Given the description of an element on the screen output the (x, y) to click on. 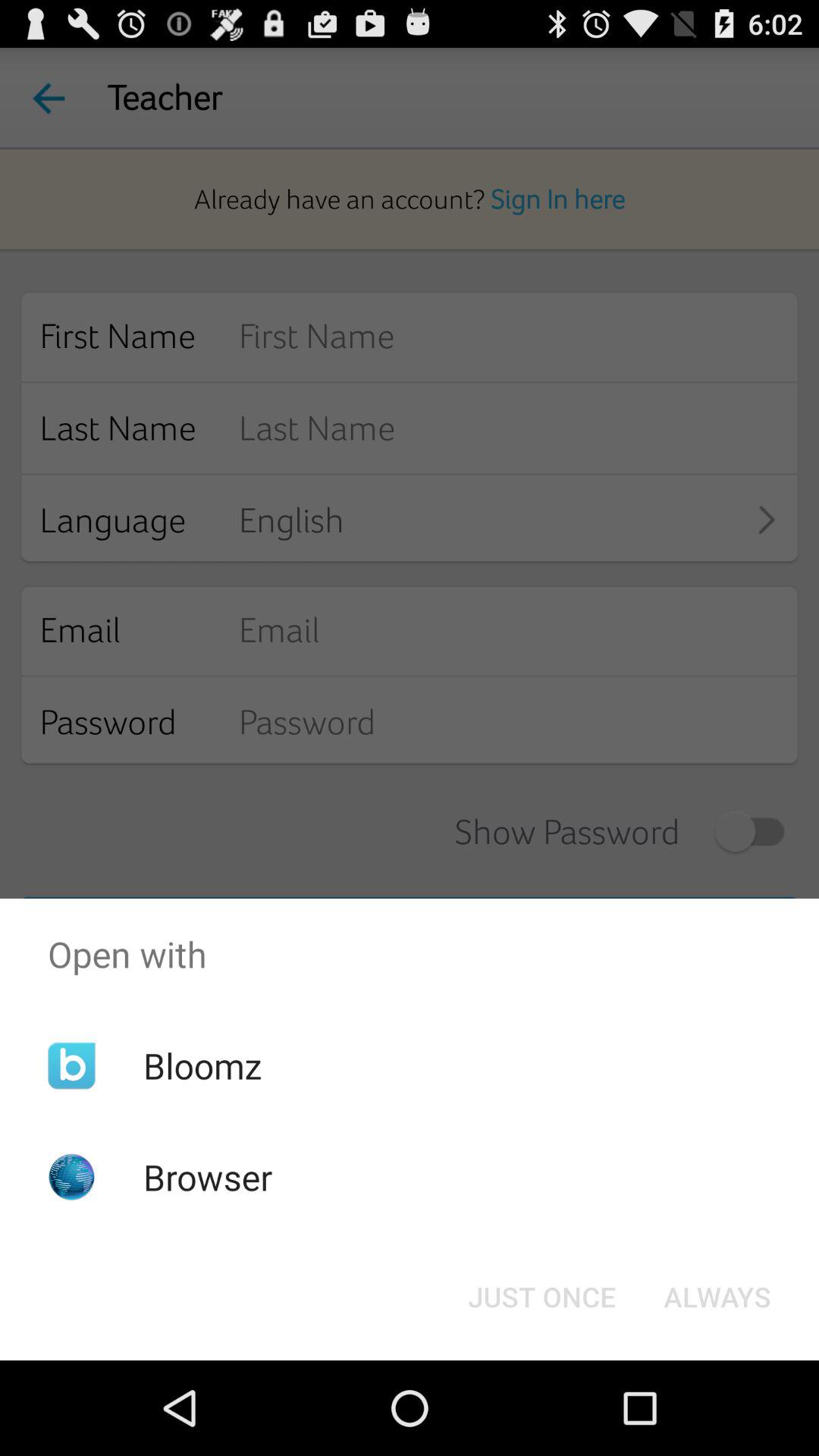
turn off button to the left of always item (541, 1296)
